Given the description of an element on the screen output the (x, y) to click on. 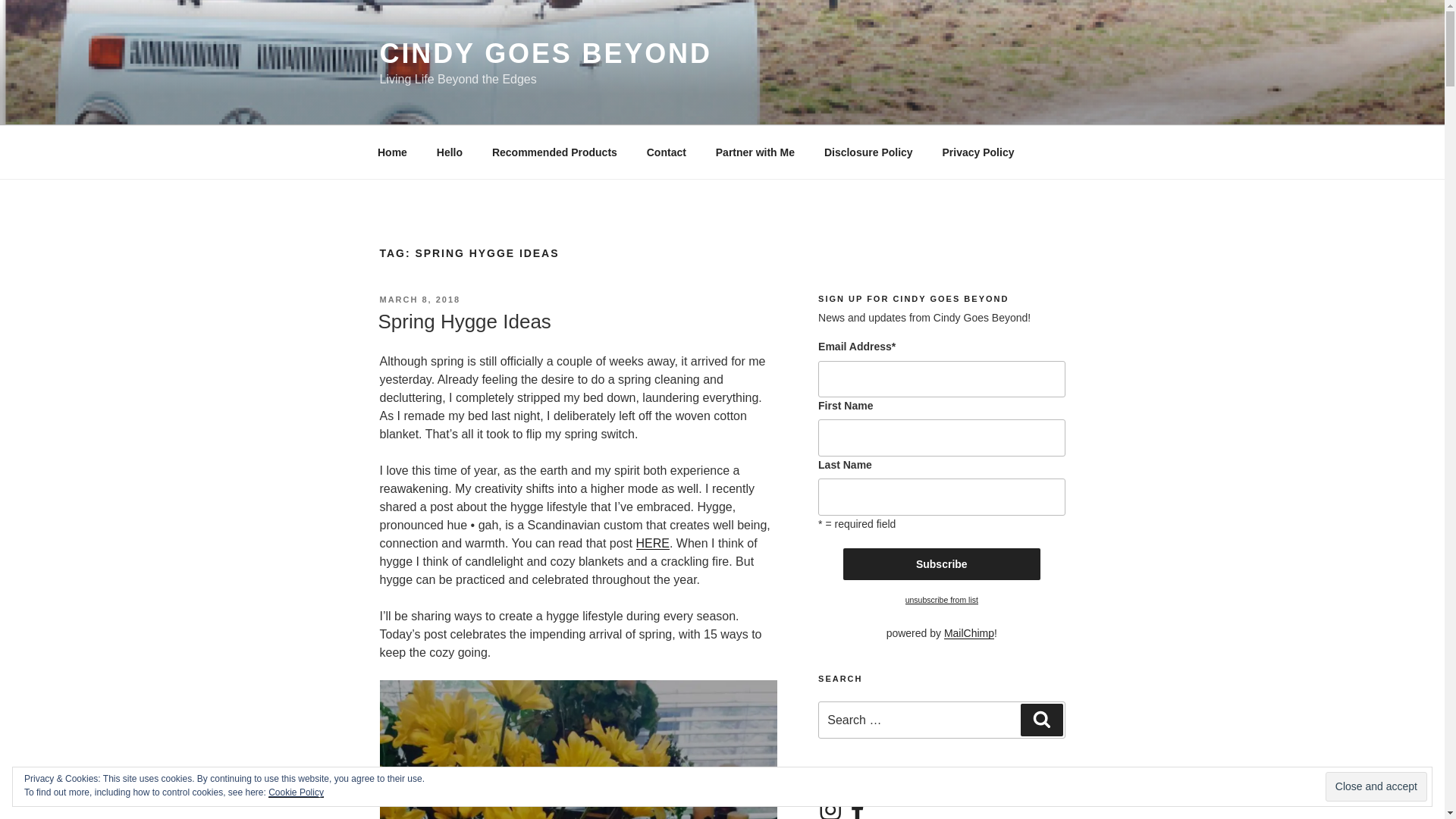
Partner with Me (754, 151)
Hello (449, 151)
MailChimp (968, 633)
Disclosure Policy (868, 151)
Home (392, 151)
MARCH 8, 2018 (419, 298)
CINDY GOES BEYOND (544, 52)
Close and accept (1375, 786)
Spring Hygge Ideas (463, 321)
Facebook (857, 808)
Instagram (830, 808)
HERE (652, 543)
unsubscribe from list (941, 599)
Subscribe (942, 563)
Subscribe (942, 563)
